Given the description of an element on the screen output the (x, y) to click on. 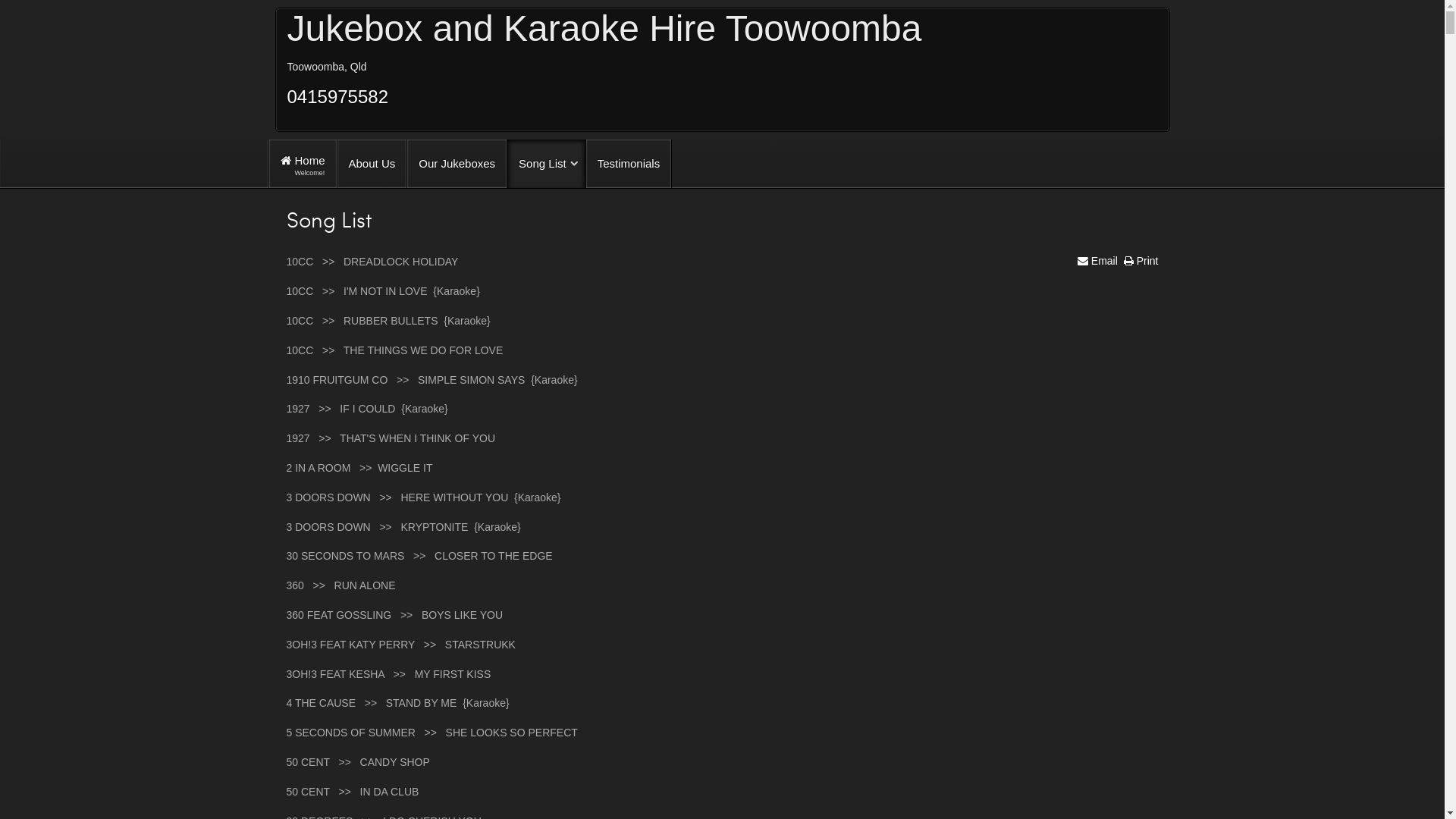
Testimonials Element type: text (628, 163)
Our Jukeboxes Element type: text (456, 163)
About Us Element type: text (372, 163)
Home
Welcome! Element type: text (302, 163)
Print Element type: text (1140, 260)
Email Element type: text (1097, 260)
Song List Element type: text (546, 163)
0415975582 Element type: text (336, 96)
Song List Element type: text (329, 218)
